Given the description of an element on the screen output the (x, y) to click on. 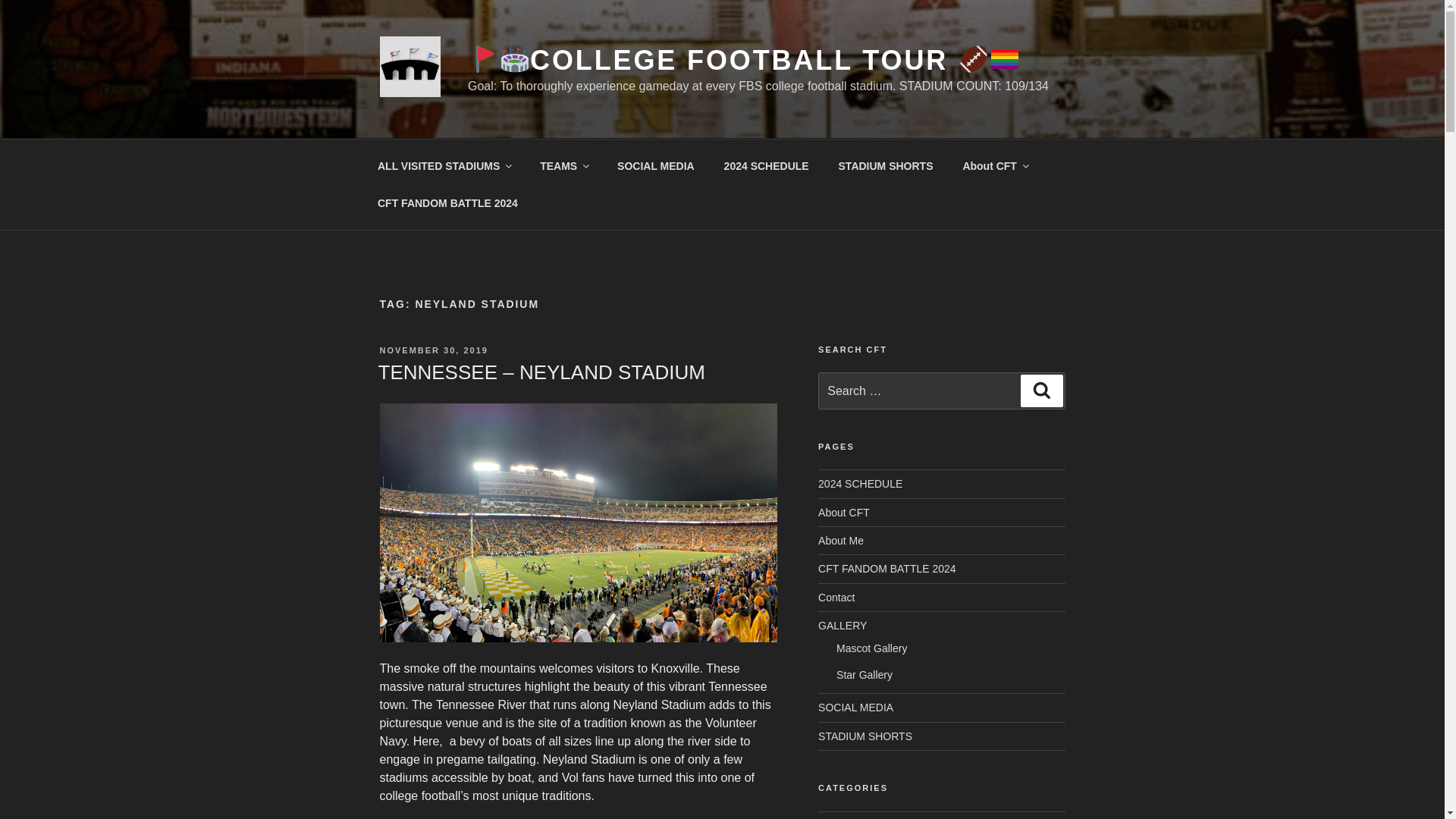
COLLEGE FOOTBALL TOUR (743, 60)
TEAMS (564, 165)
ALL VISITED STADIUMS (443, 165)
